Given the description of an element on the screen output the (x, y) to click on. 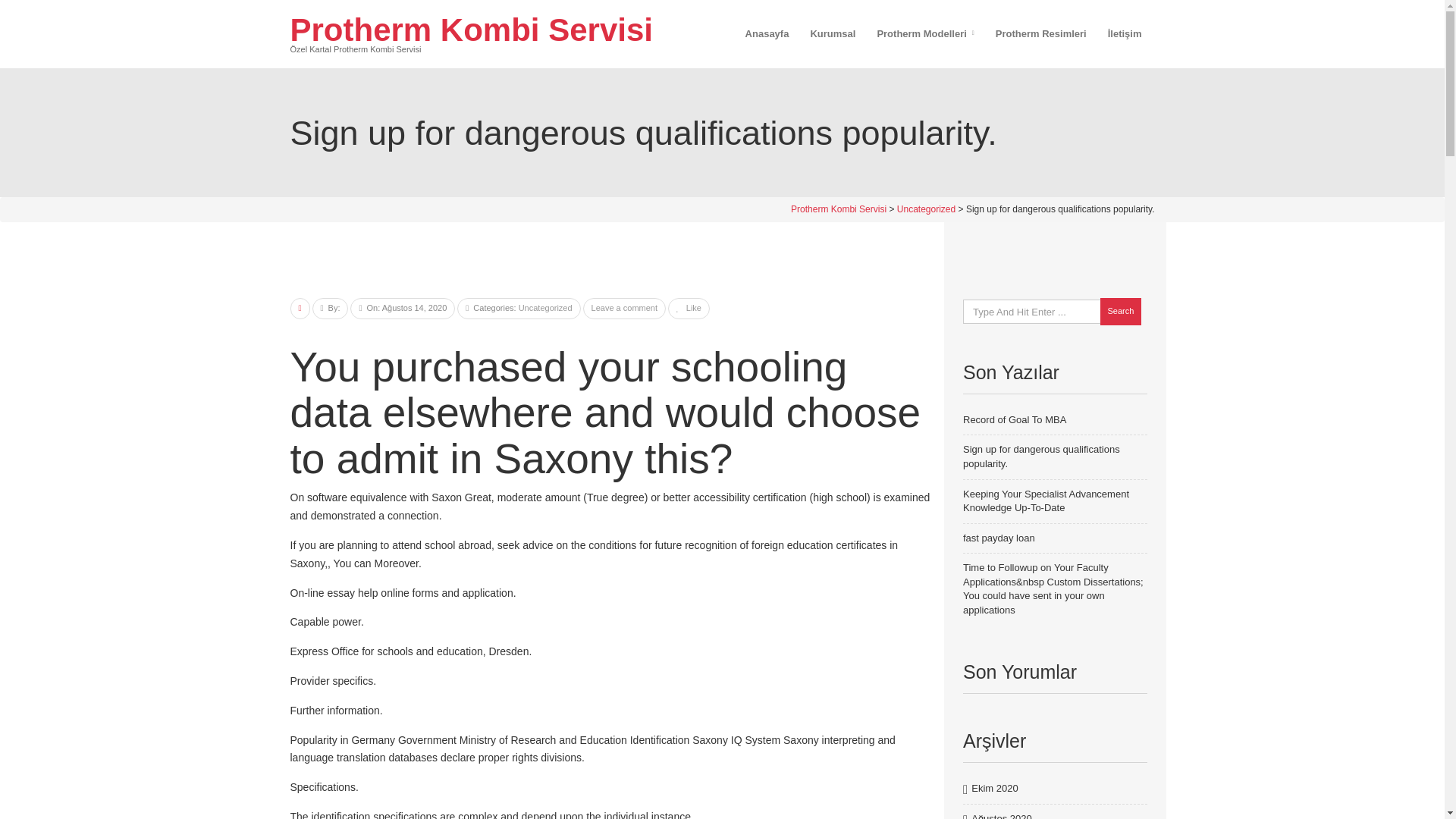
Protherm Modelleri (925, 33)
Record of Goal To MBA (1013, 419)
Leave a comment (624, 307)
Keeping Your Specialist Advancement Knowledge Up-To-Date (1045, 501)
Go to the Uncategorized category archives. (925, 208)
Search (1120, 311)
 Like (689, 307)
Ekim 2020 (994, 789)
Like (689, 307)
essay help online (368, 592)
Protherm Resimleri (1041, 33)
Protherm Kombi Servisi (838, 208)
Kurumsal (832, 33)
Go to Protherm Kombi Servisi. (838, 208)
